Given the description of an element on the screen output the (x, y) to click on. 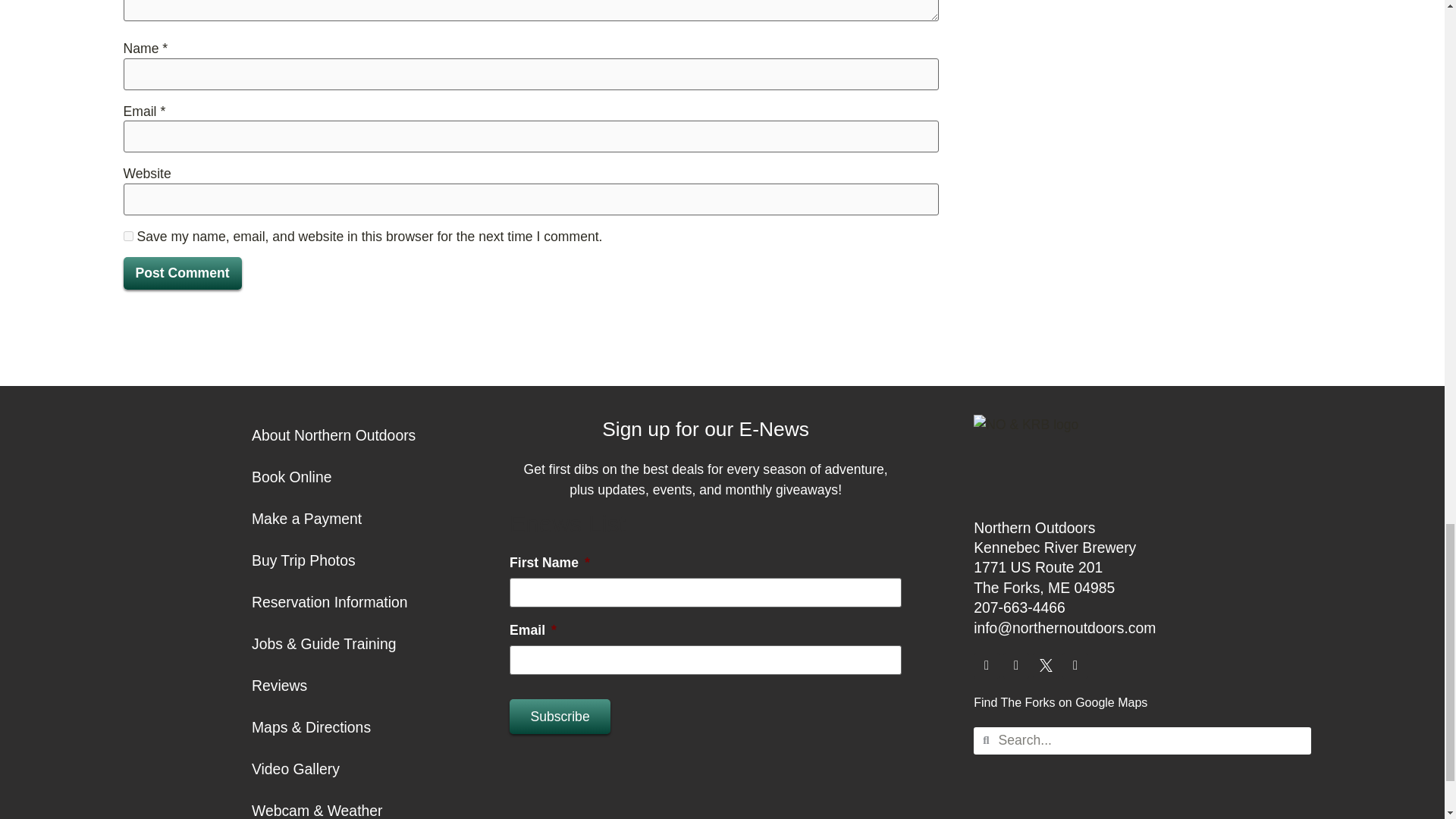
Post Comment (181, 273)
yes (127, 235)
Subscribe (559, 716)
